Given the description of an element on the screen output the (x, y) to click on. 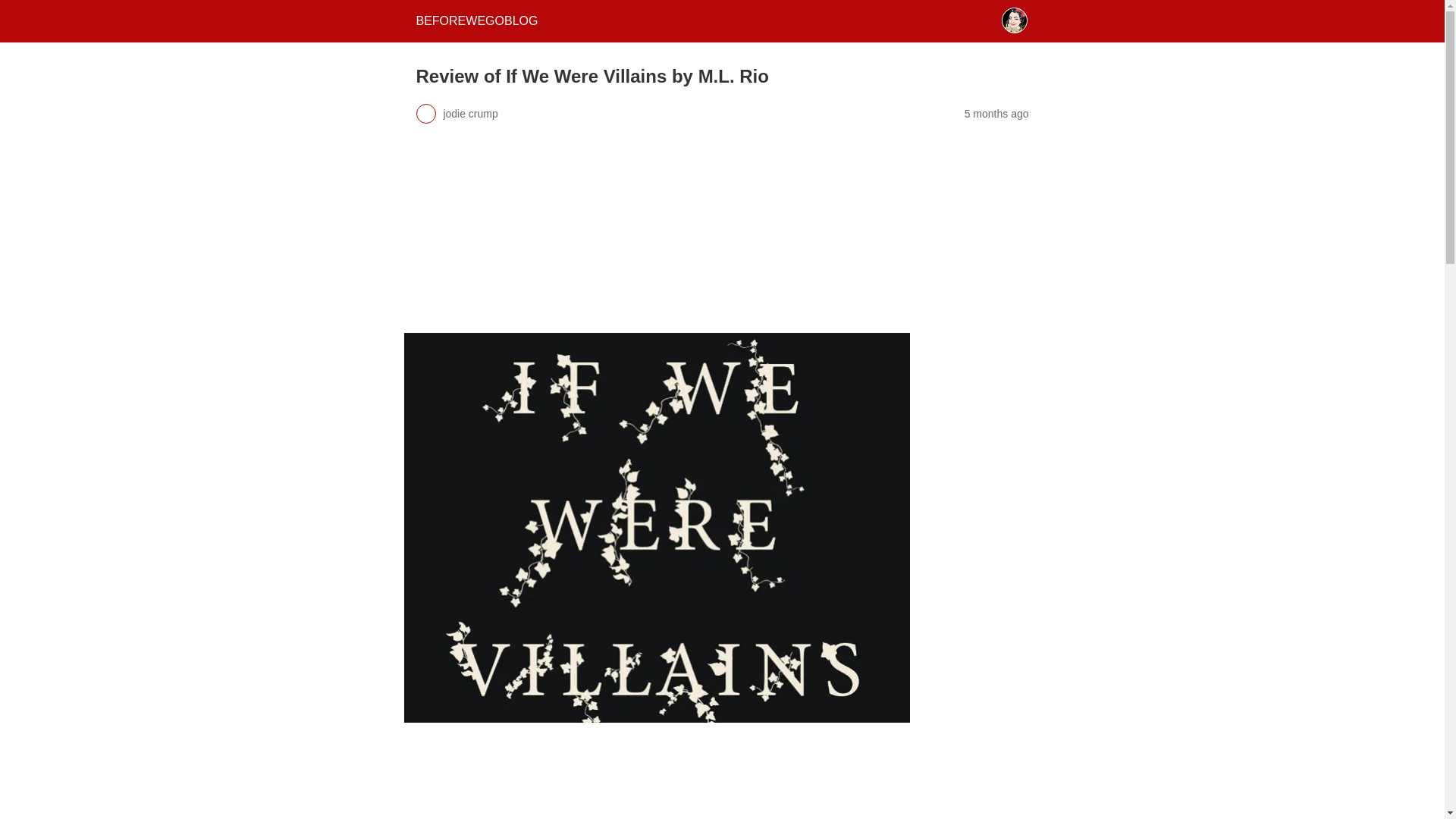
BEFOREWEGOBLOG (475, 20)
